Given the description of an element on the screen output the (x, y) to click on. 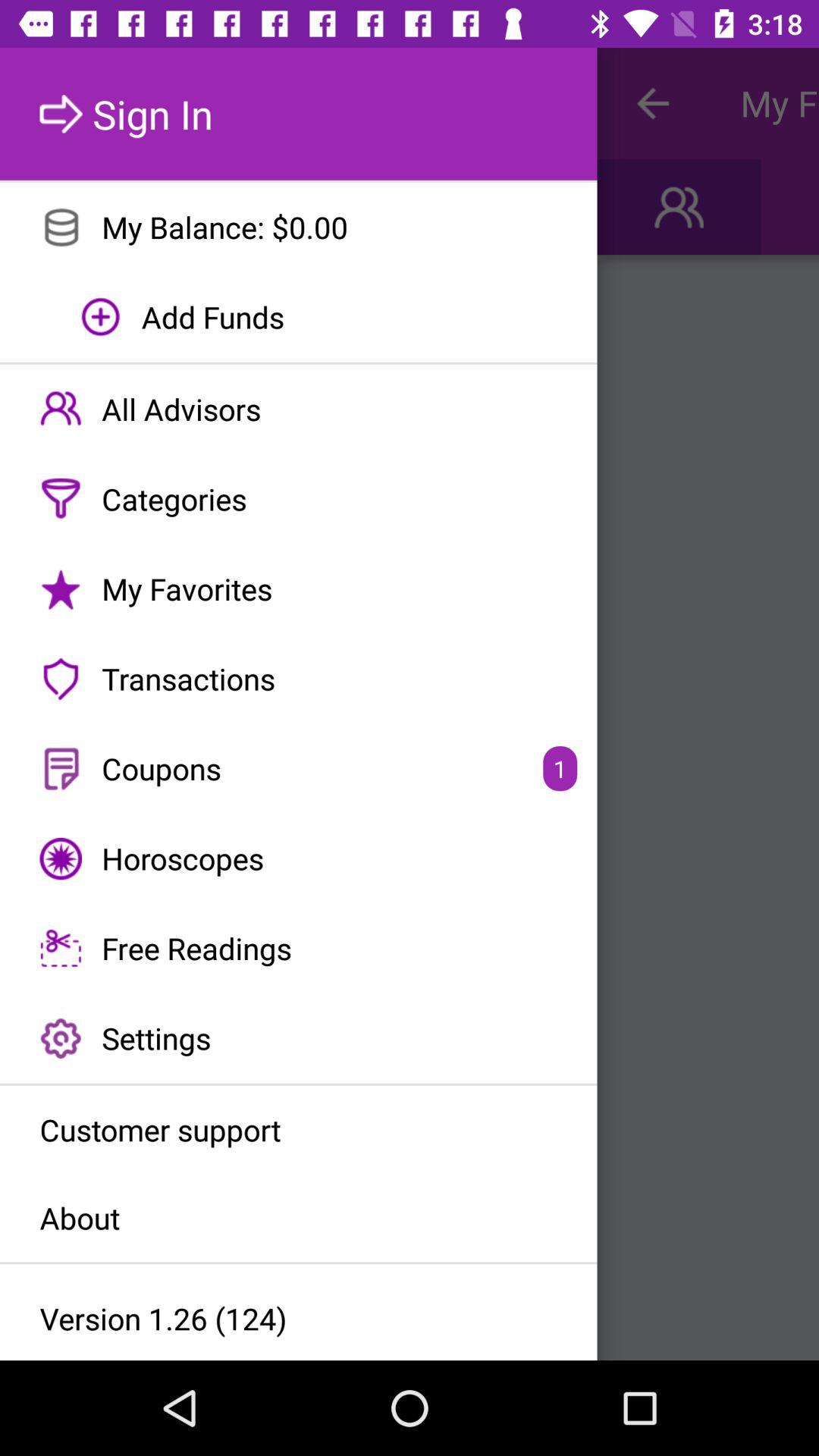
flip until customer support item (298, 1129)
